Given the description of an element on the screen output the (x, y) to click on. 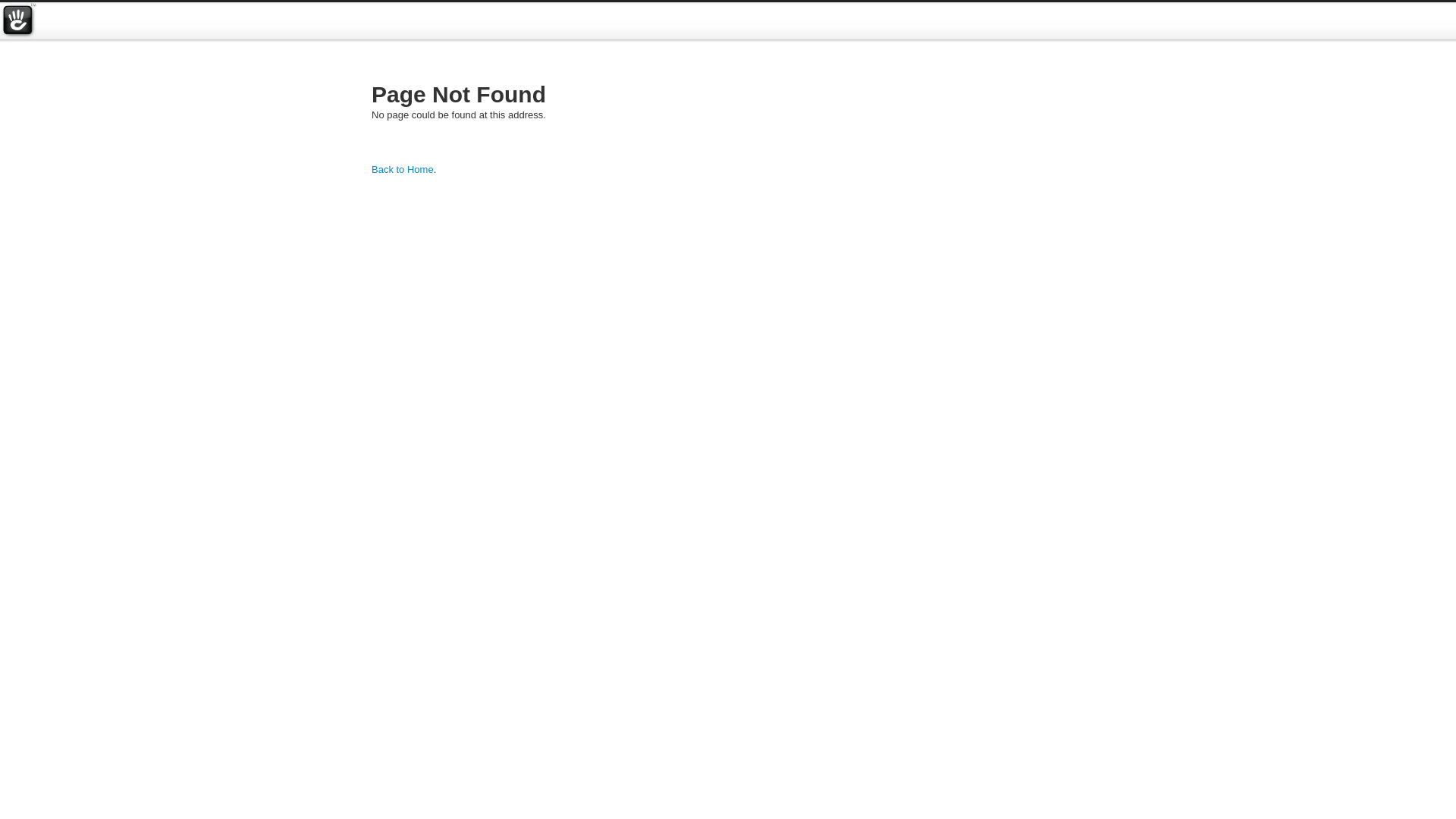
Back to Home Element type: text (402, 169)
concrete5 Element type: hover (18, 20)
